Given the description of an element on the screen output the (x, y) to click on. 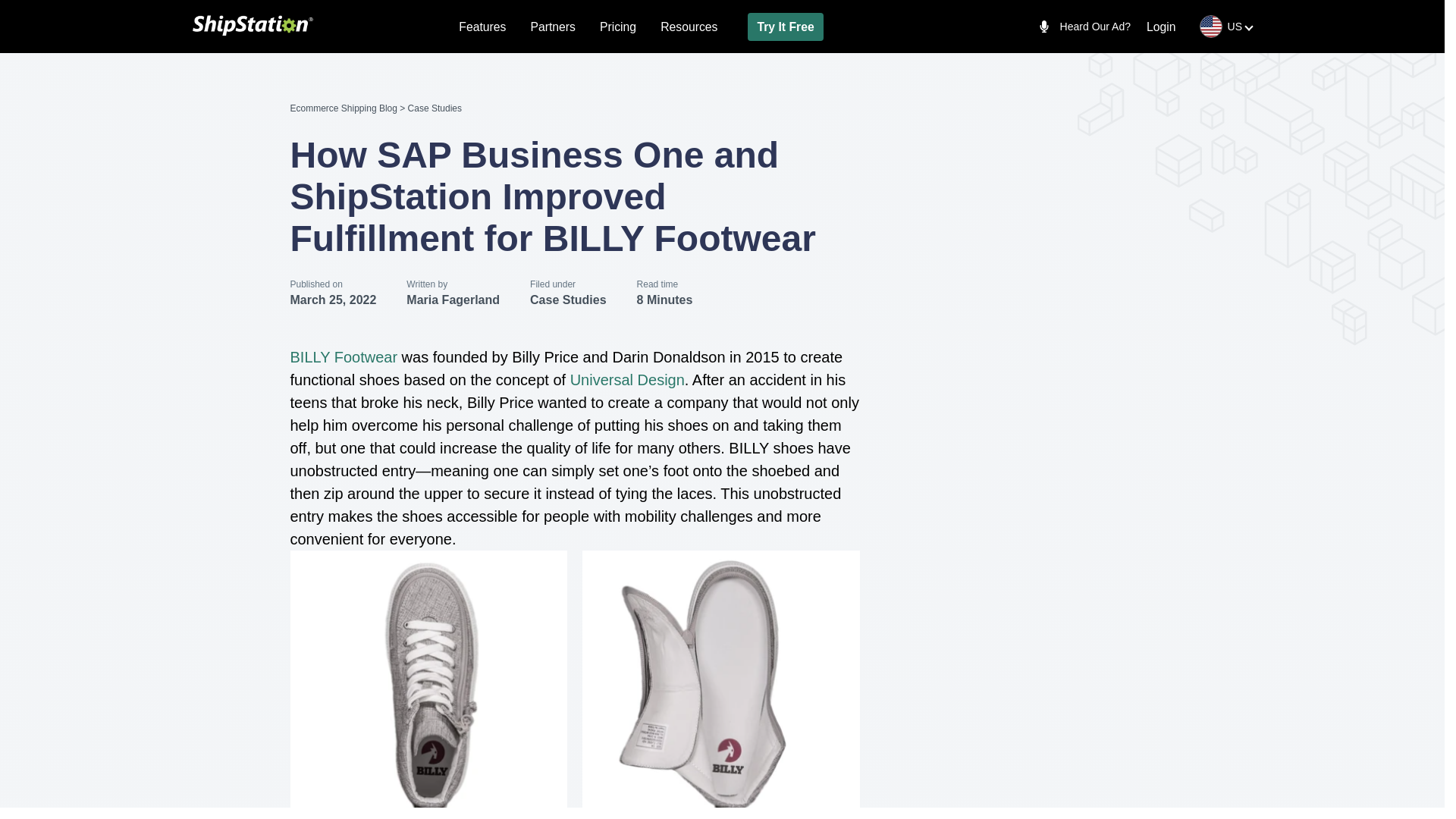
Posts by Maria Fagerland (452, 299)
Resources (689, 26)
Try It Free (785, 26)
Pricing (617, 26)
Partners (552, 26)
Features (481, 26)
